Given the description of an element on the screen output the (x, y) to click on. 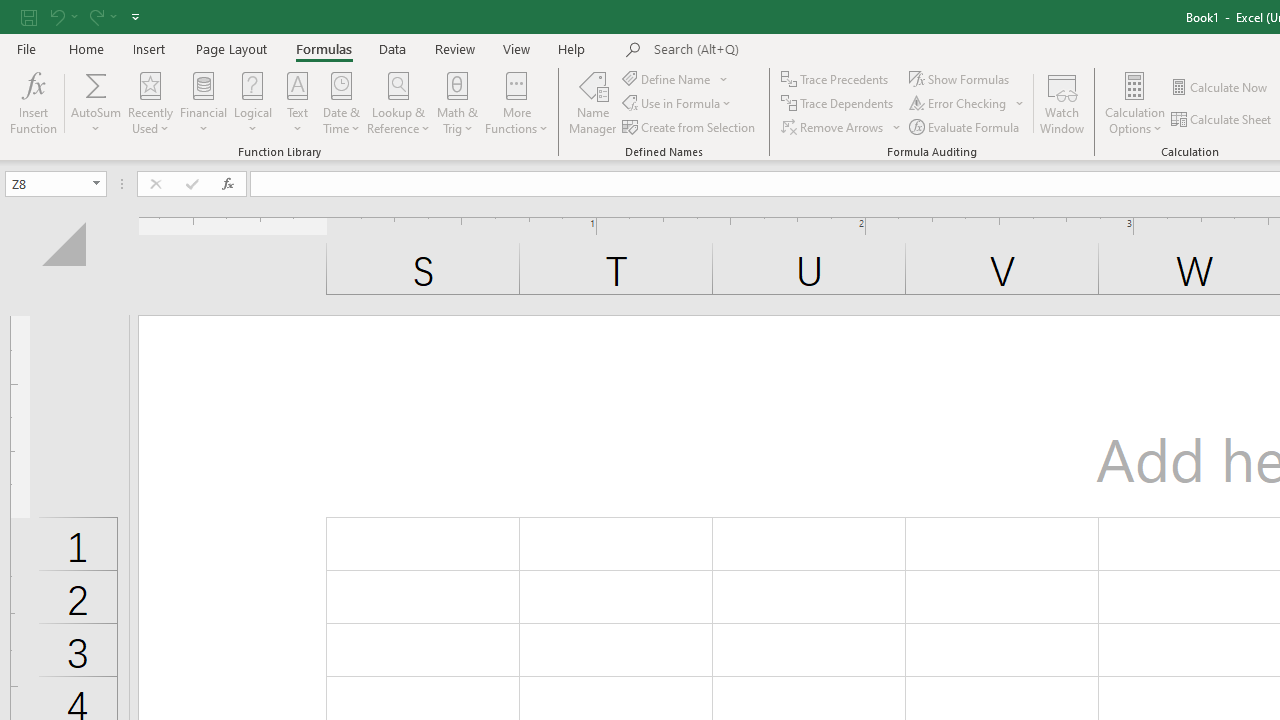
Watch Window (1062, 102)
Text (297, 102)
Define Name... (667, 78)
More Functions (516, 102)
Insert Function... (33, 102)
Define Name (676, 78)
Math & Trig (458, 102)
